Given the description of an element on the screen output the (x, y) to click on. 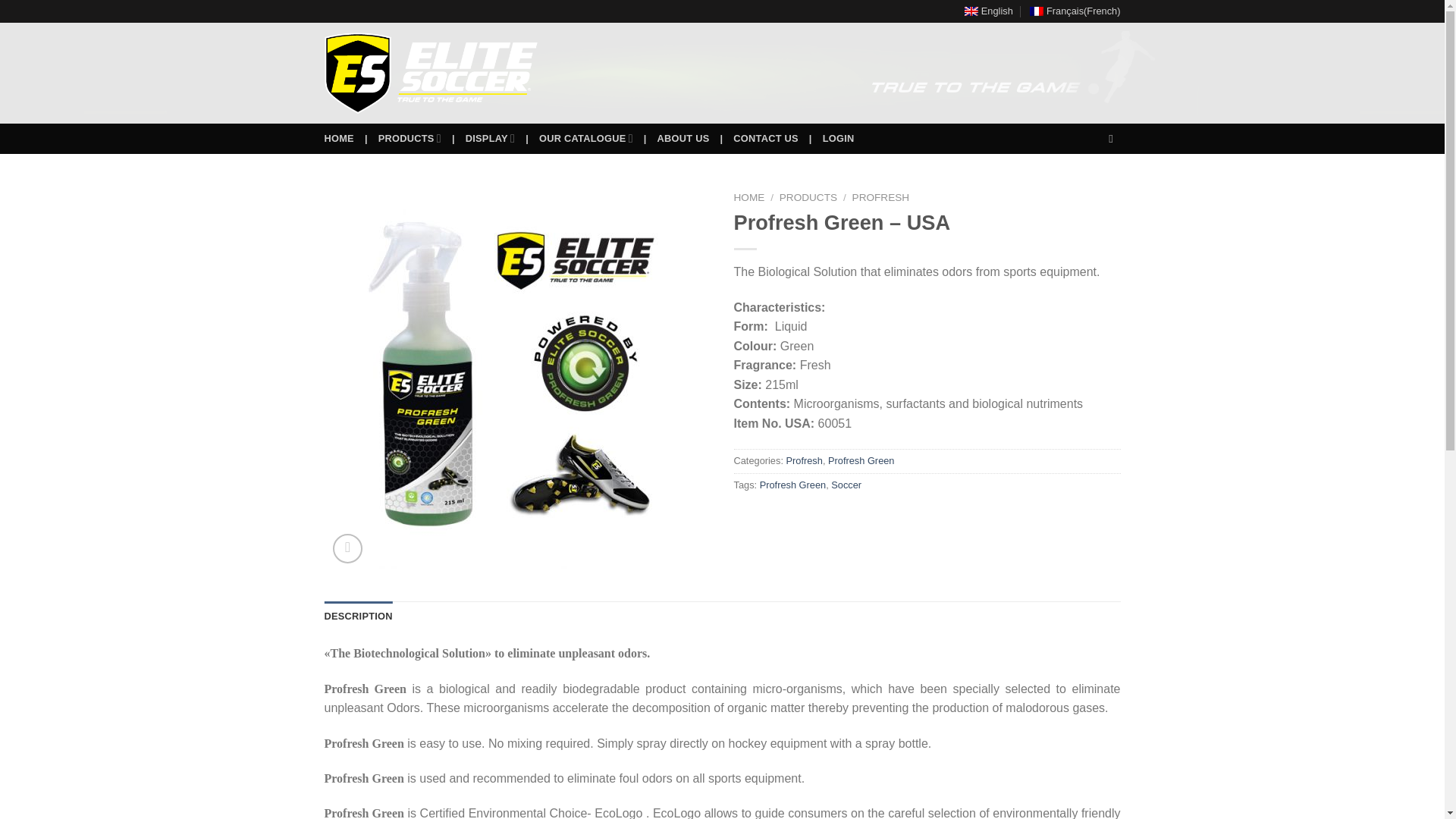
Zoom (347, 548)
PRODUCTS (409, 138)
DISPLAY (490, 138)
LOGIN (838, 138)
French (1074, 11)
HOME (749, 197)
English (988, 11)
HOME (338, 138)
English (988, 11)
